Given the description of an element on the screen output the (x, y) to click on. 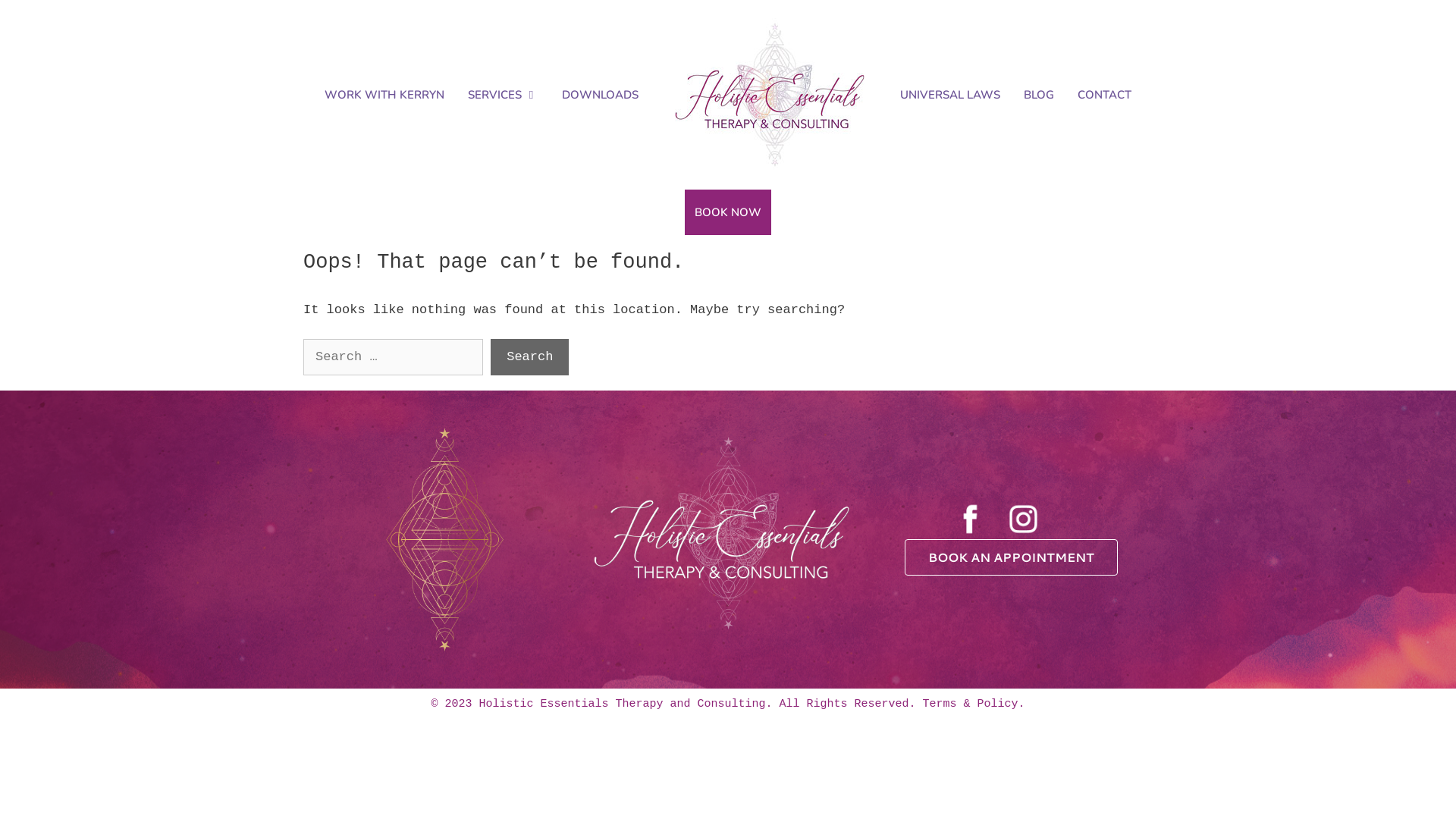
DOWNLOADS Element type: text (600, 94)
WORK WITH KERRYN Element type: text (384, 94)
BOOK AN APPOINTMENT Element type: text (1010, 557)
Holistic Essentials Element type: hover (769, 94)
SERVICES Element type: text (503, 94)
Terms & Policy. Element type: text (973, 703)
BLOG Element type: text (1038, 94)
UNIVERSAL LAWS Element type: text (950, 94)
CONTACT Element type: text (1104, 94)
BOOK NOW Element type: text (727, 212)
Search for: Element type: hover (393, 356)
Search Element type: text (529, 356)
